Given the description of an element on the screen output the (x, y) to click on. 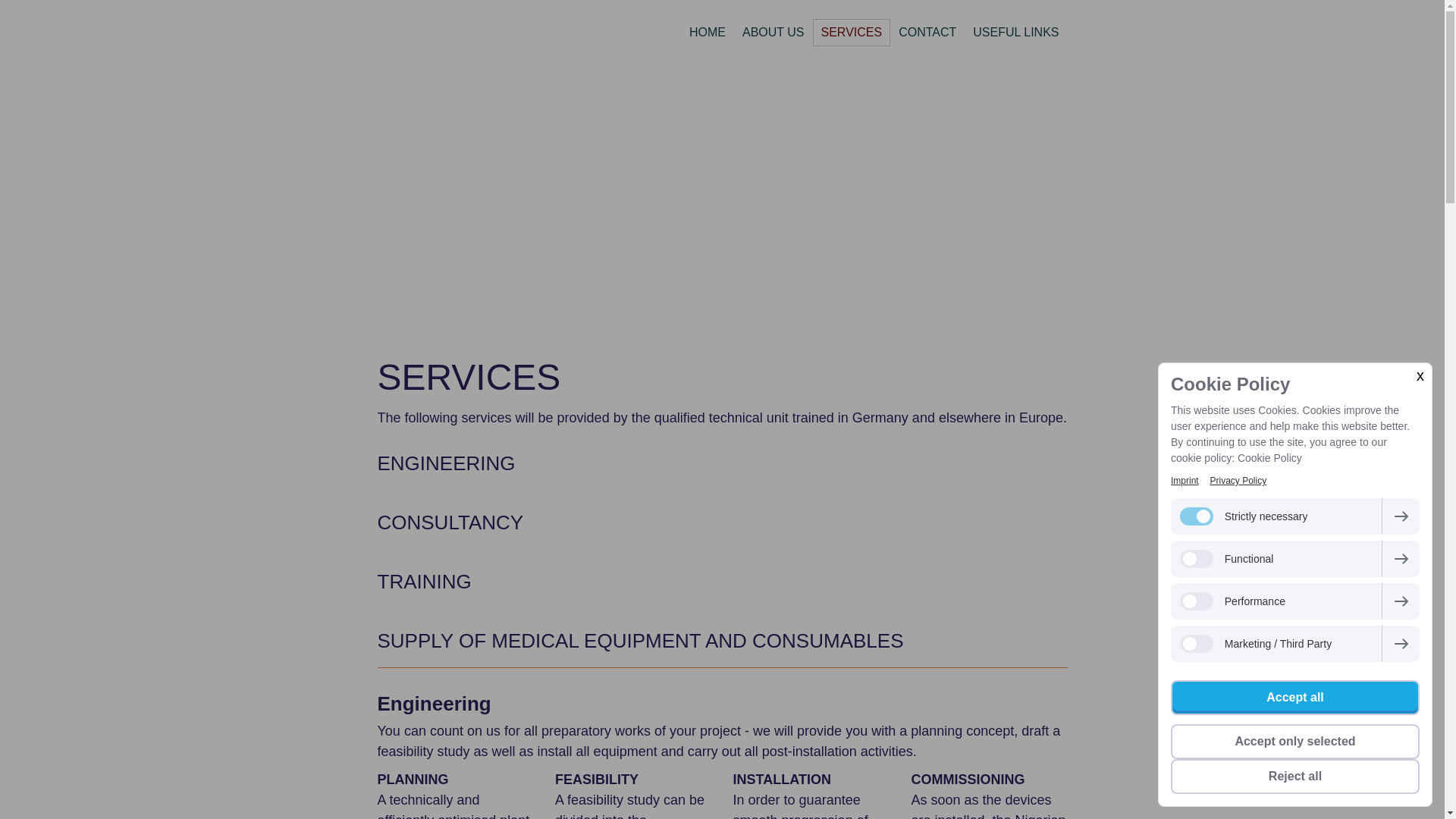
CONTACT (926, 31)
USEFUL LINKS (1015, 31)
Privacy Policy (1237, 480)
Accept all (1294, 697)
Accept only selected (1294, 741)
ABOUT US (772, 31)
Reject all (1294, 776)
Imprint (1184, 480)
SERVICES (851, 31)
HOME (707, 31)
